Given the description of an element on the screen output the (x, y) to click on. 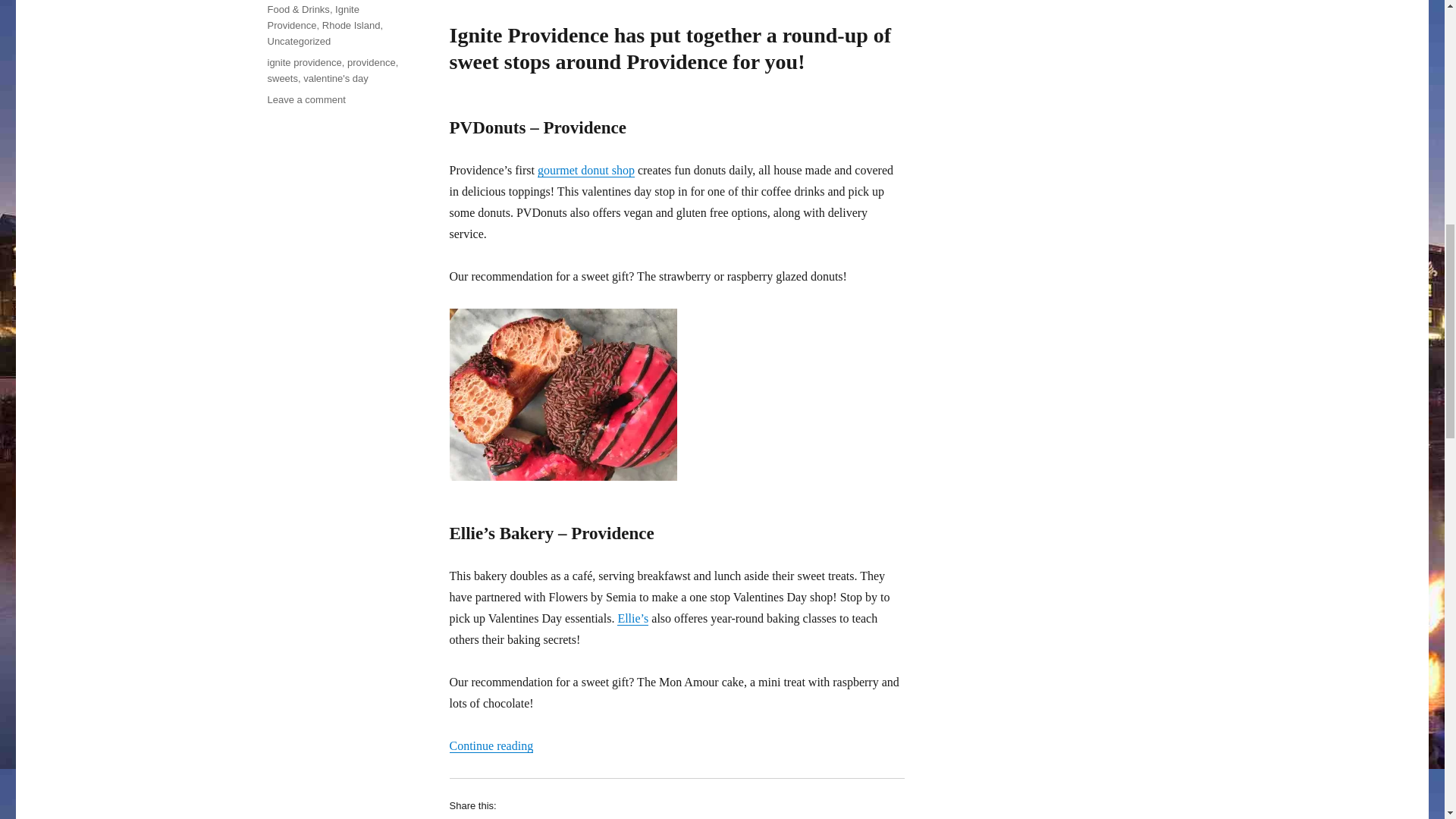
ignite providence (303, 61)
Uncategorized (298, 41)
Ignite Providence (312, 17)
gourmet donut shop (585, 169)
Rhode Island (350, 25)
